Given the description of an element on the screen output the (x, y) to click on. 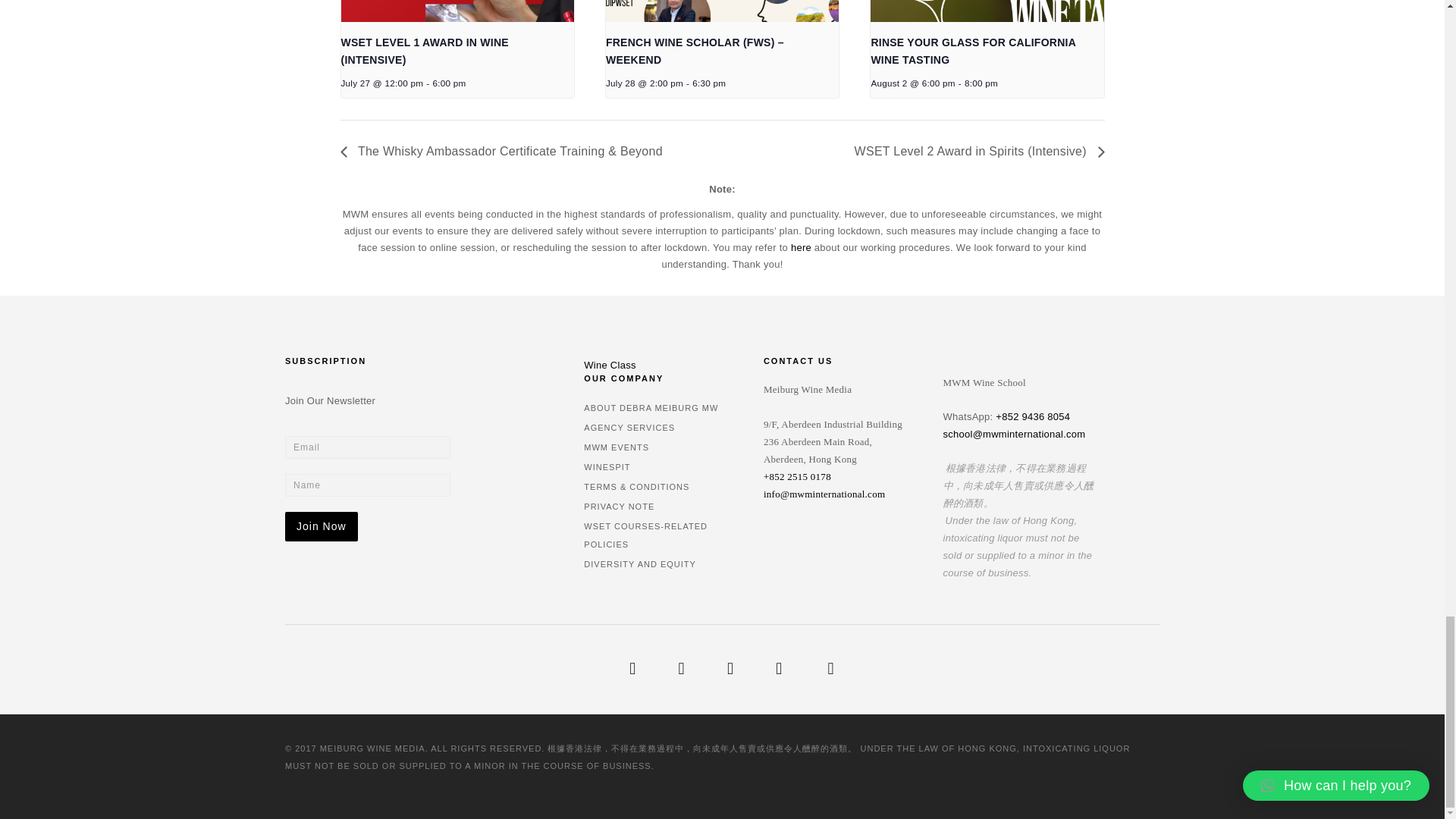
Join Now (321, 526)
